Given the description of an element on the screen output the (x, y) to click on. 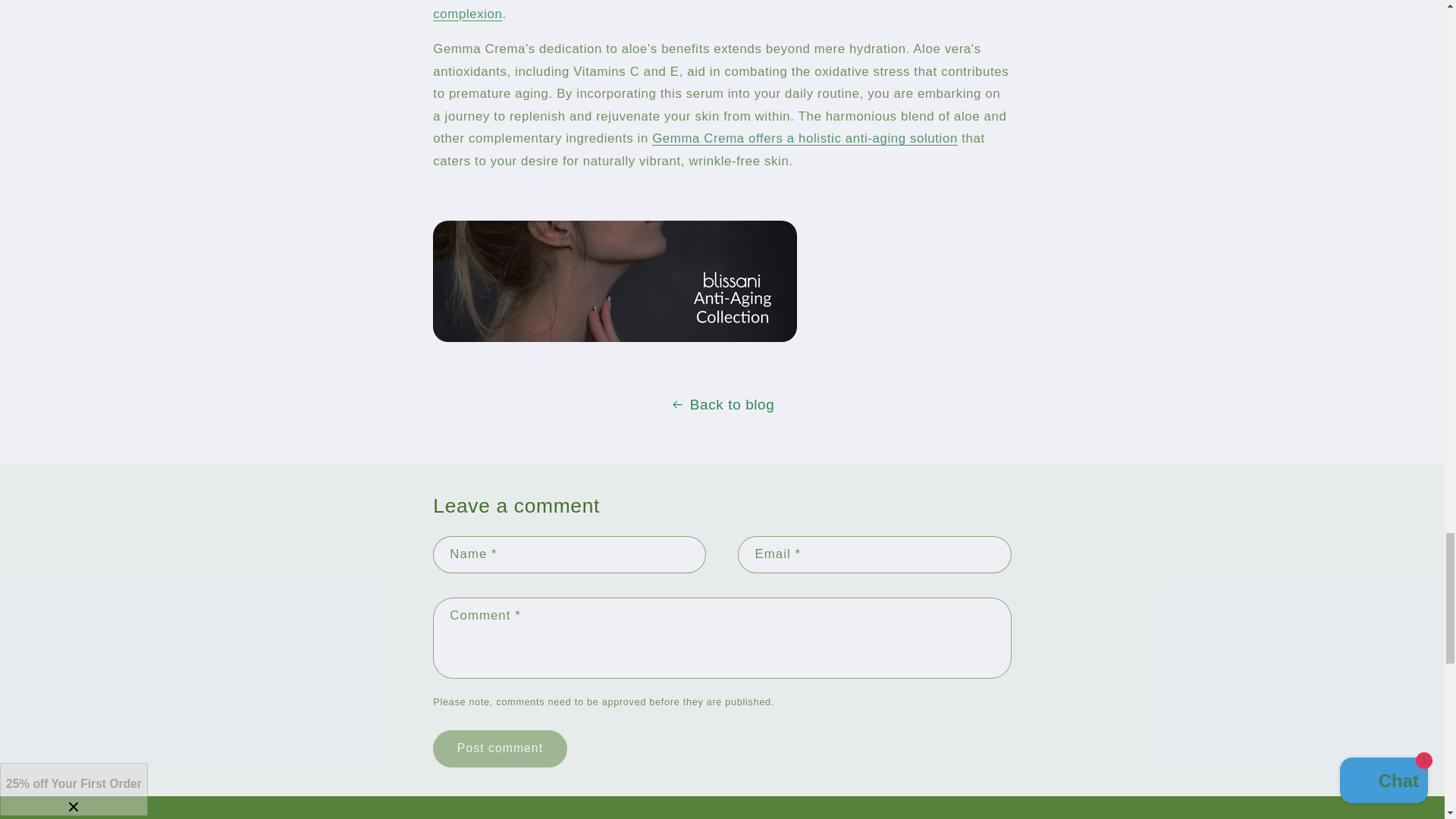
blissani anti-aging collection (614, 340)
Post comment (499, 748)
